Given the description of an element on the screen output the (x, y) to click on. 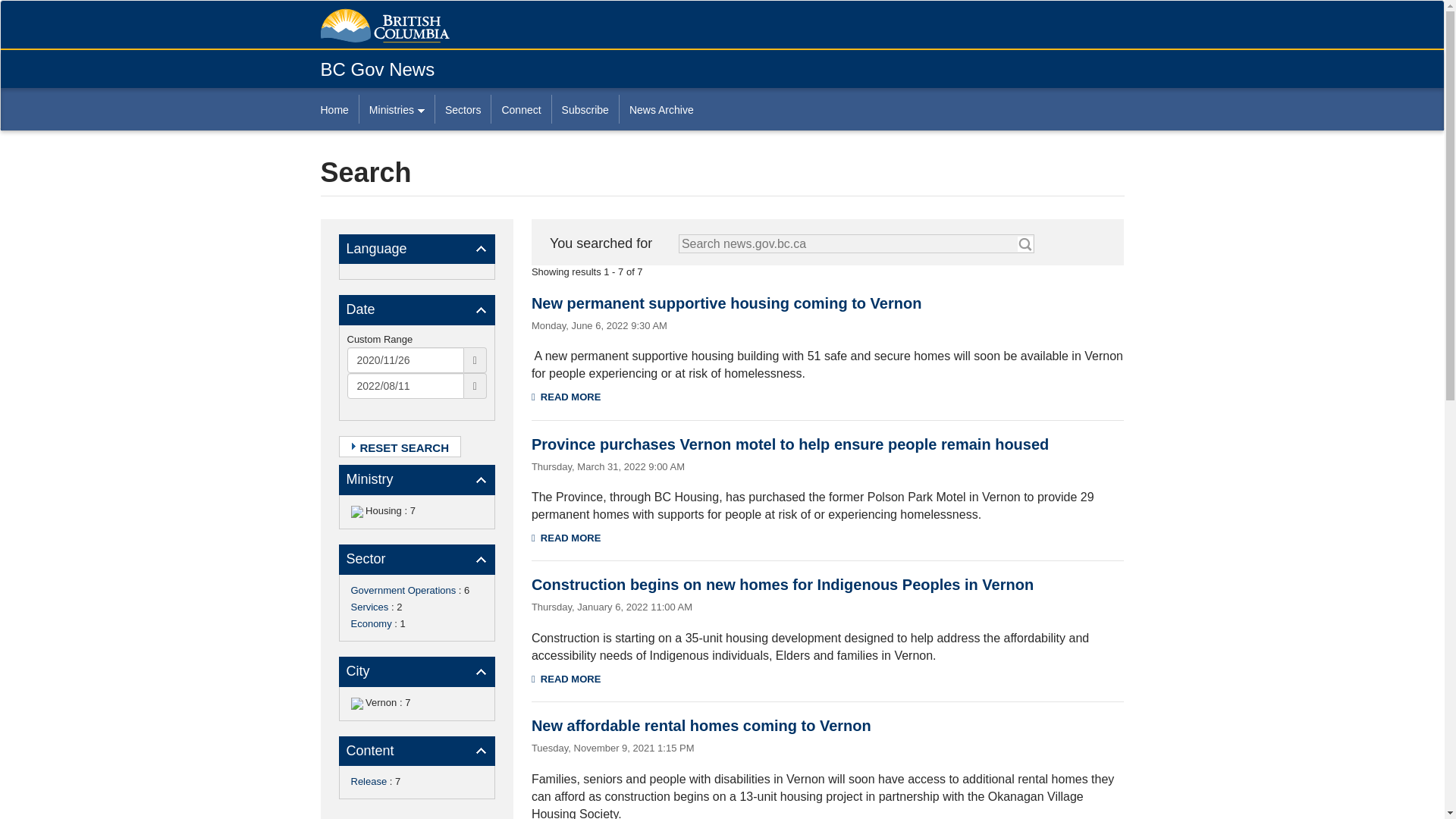
Subscribe (584, 109)
Connect (520, 109)
Ministries (395, 109)
BC Gov News (376, 68)
Sectors (461, 109)
News Archive (660, 109)
Home (339, 109)
Government of B.C. (384, 25)
